Given the description of an element on the screen output the (x, y) to click on. 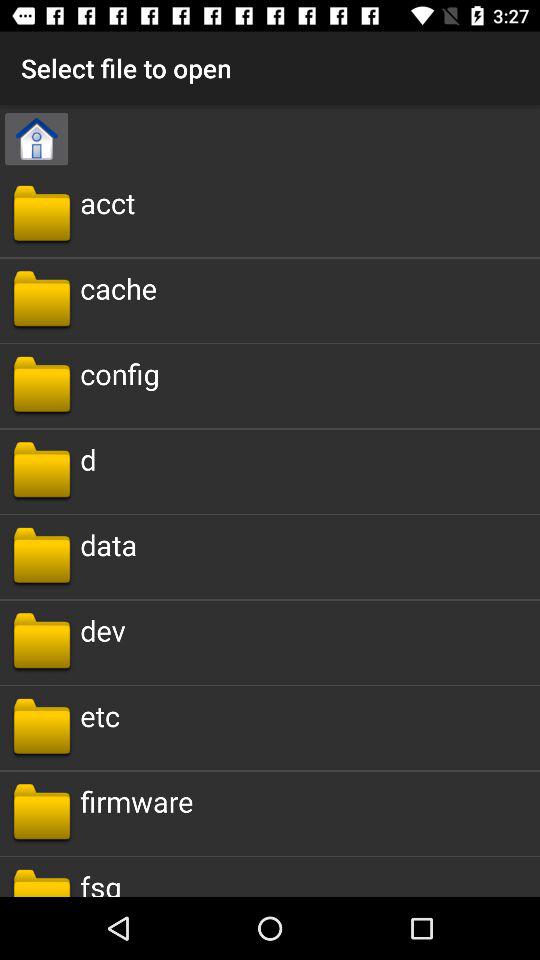
press dev (102, 629)
